Given the description of an element on the screen output the (x, y) to click on. 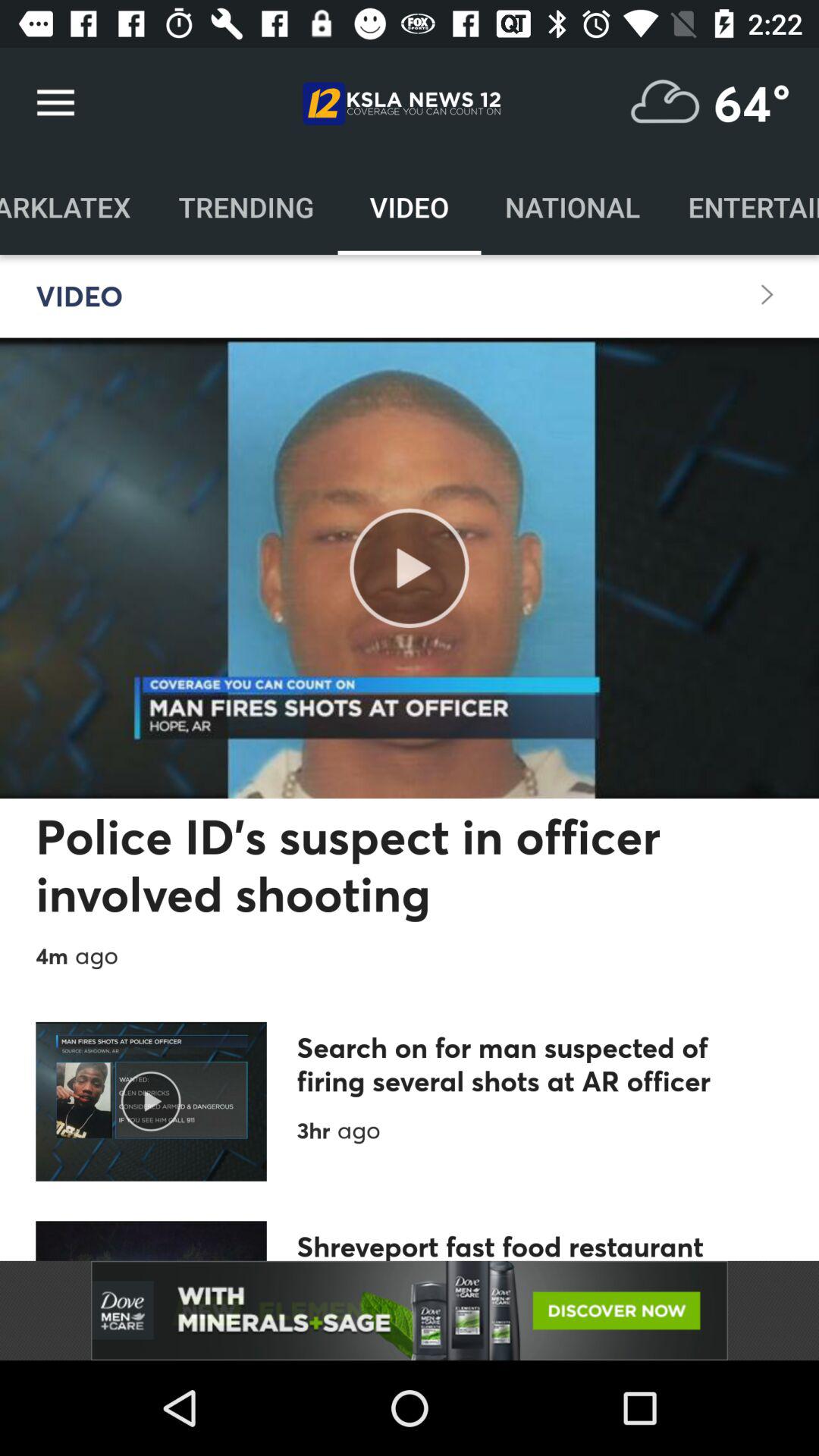
select the addvertisement (409, 1310)
